Given the description of an element on the screen output the (x, y) to click on. 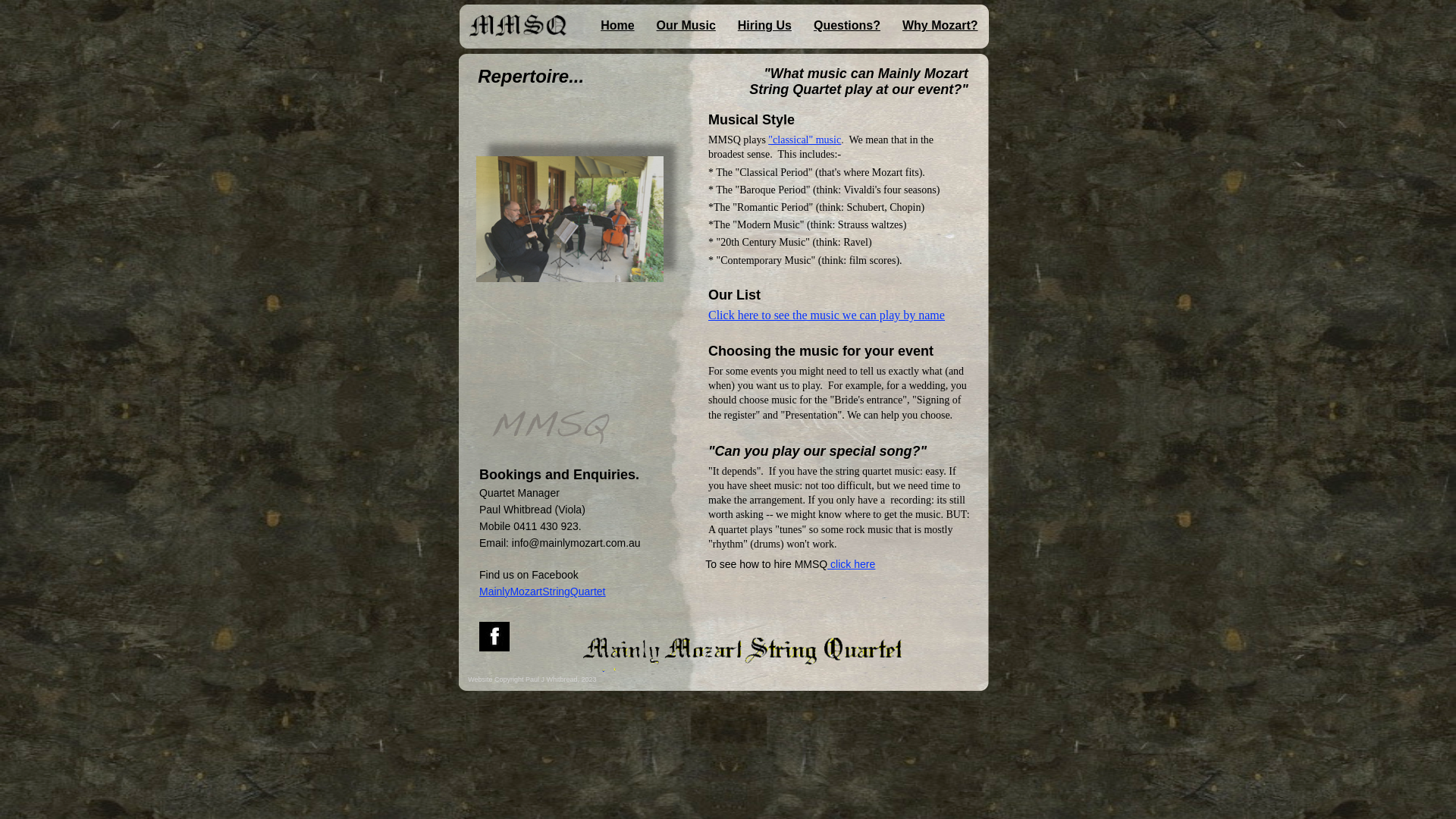
"classical" music Element type: text (804, 139)
Click here to see the music we can play by name Element type: text (826, 314)
Questions? Element type: text (847, 25)
MainlyMozartStringQuartet Element type: text (542, 591)
Hiring Us Element type: text (764, 25)
click here Element type: text (851, 564)
Why Mozart? Element type: text (939, 25)
Our Music Element type: text (686, 25)
Home Element type: text (612, 25)
